Given the description of an element on the screen output the (x, y) to click on. 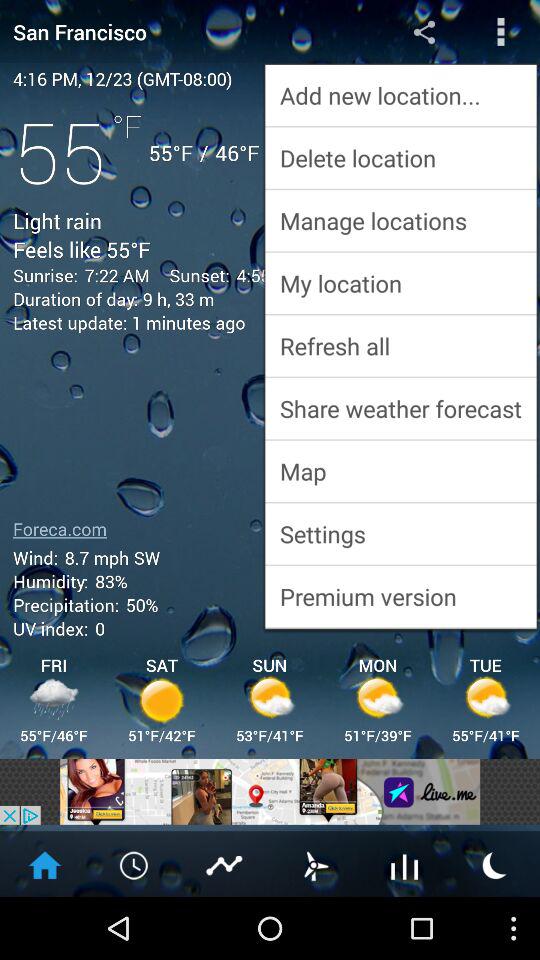
swipe until my location item (400, 282)
